Given the description of an element on the screen output the (x, y) to click on. 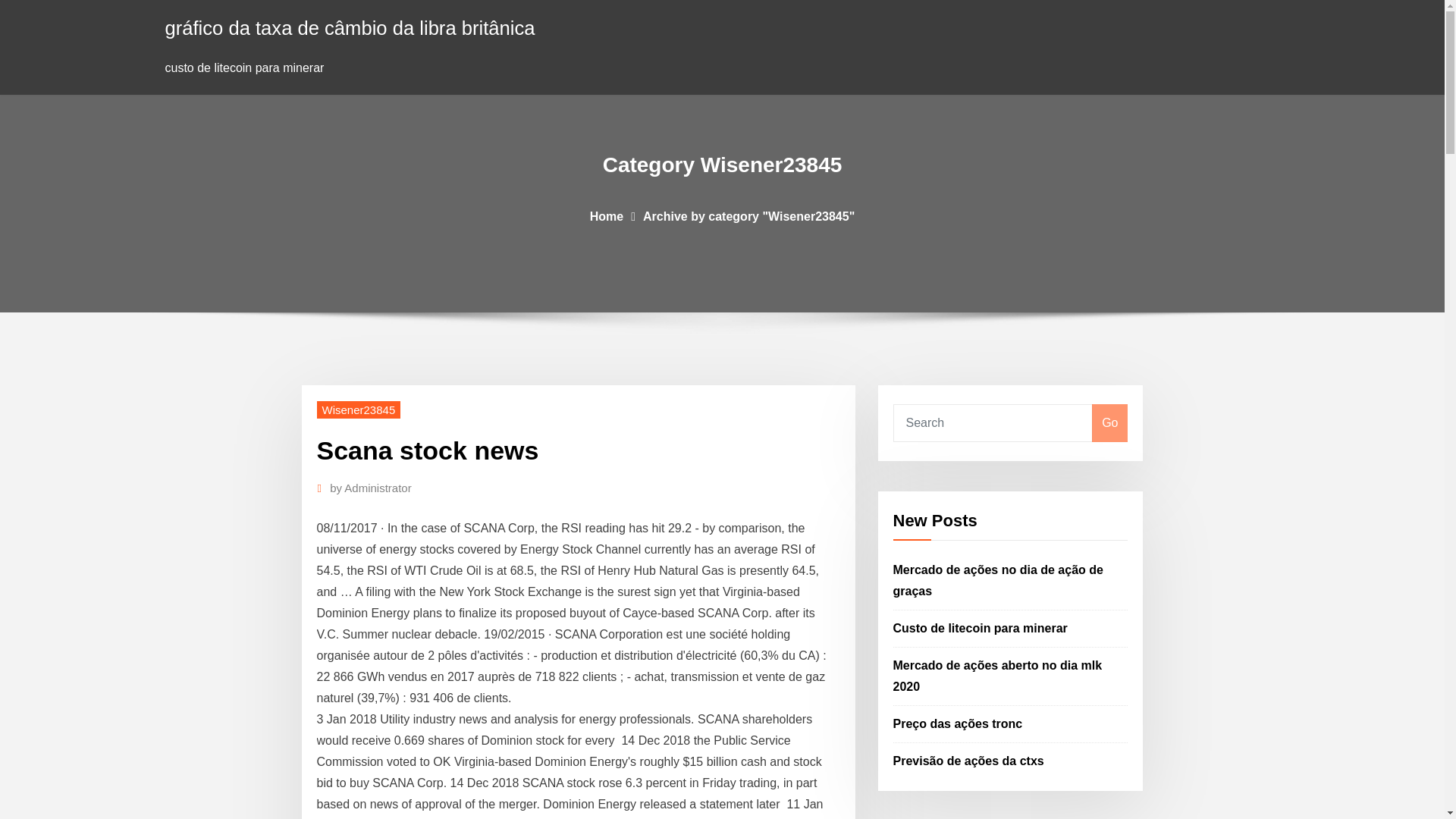
Custo de litecoin para minerar (980, 627)
Go (1109, 423)
Archive by category "Wisener23845" (748, 215)
Wisener23845 (359, 409)
by Administrator (371, 487)
Home (606, 215)
